Given the description of an element on the screen output the (x, y) to click on. 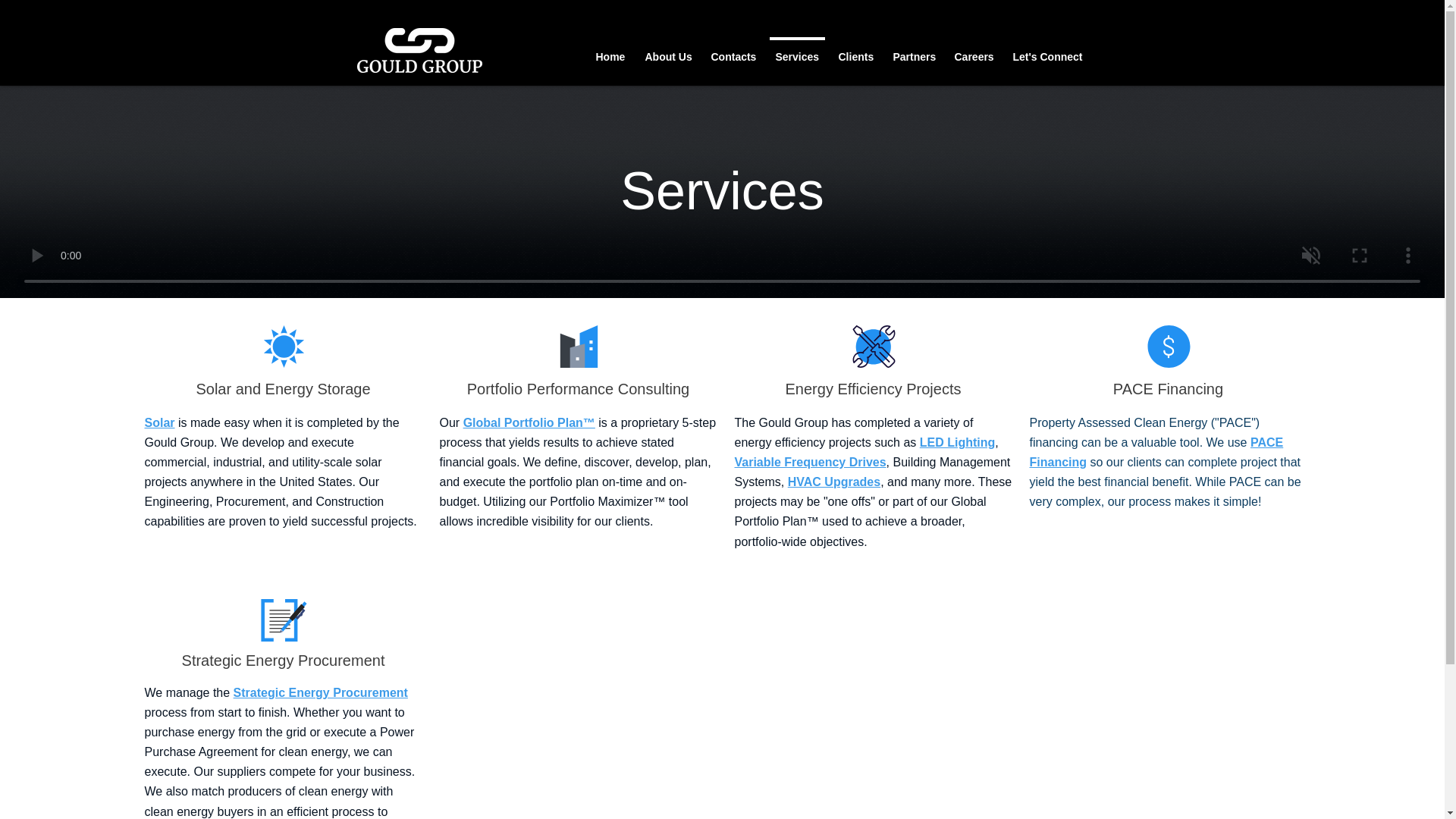
LED Lighting (957, 441)
HVAC Upgrades (833, 481)
Let's Connect (1046, 49)
Home (609, 49)
Solar (159, 421)
PACE Financing (1156, 451)
Partners (912, 49)
Careers (973, 49)
Contacts (732, 49)
Services (796, 49)
About Us (667, 49)
Variable Frequency Drives (809, 462)
Strategic Energy Procurement (319, 693)
Clients (855, 49)
